Given the description of an element on the screen output the (x, y) to click on. 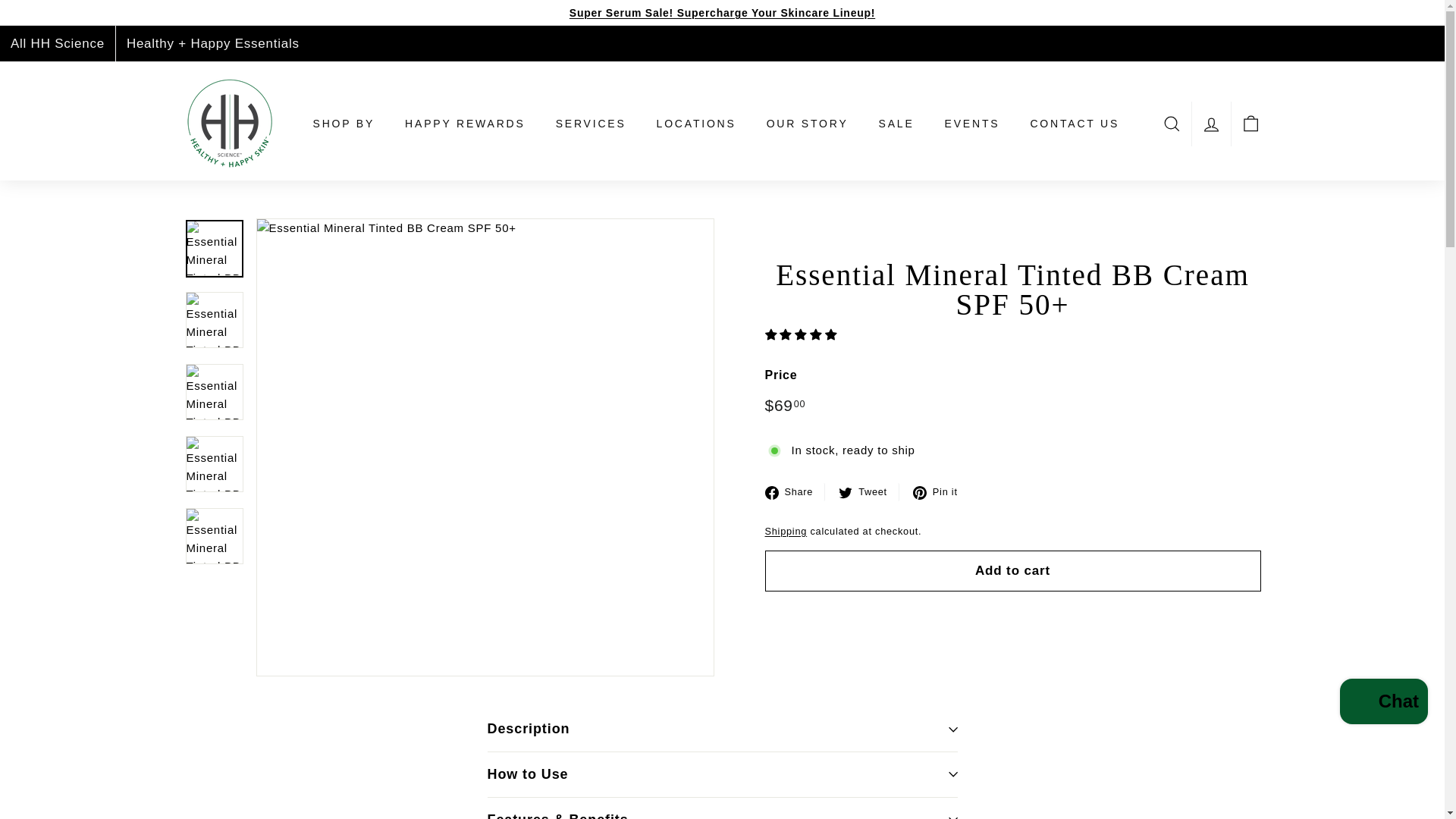
SHOP BY (343, 123)
Sale (722, 12)
Tweet on Twitter (868, 492)
Super Serum Sale! Supercharge Your Skincare Lineup! (722, 12)
Pin on Pinterest (940, 492)
Share on Facebook (794, 492)
All HH Science (58, 43)
